Given the description of an element on the screen output the (x, y) to click on. 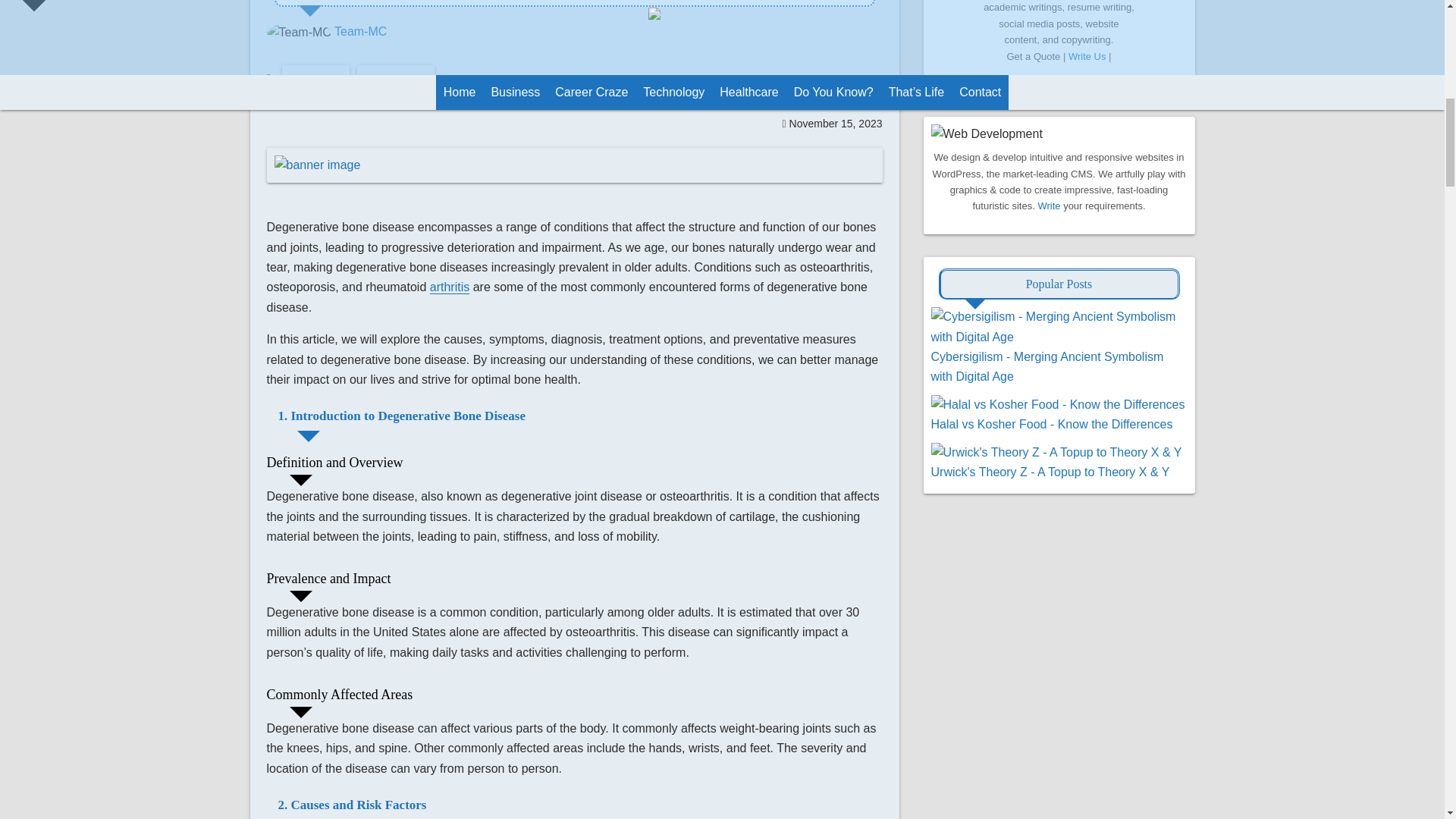
Cybersigilism - Merging Ancient Symbolism with Digital Age (1059, 336)
Team-MC (360, 31)
Medical Care (394, 78)
Healthcare (315, 78)
Halal vs Kosher Food - Know the Differences (1052, 423)
Cybersigilism - Merging Ancient Symbolism with Digital Age (1047, 366)
Halal vs Kosher Food - Know the Differences (1058, 404)
